Given the description of an element on the screen output the (x, y) to click on. 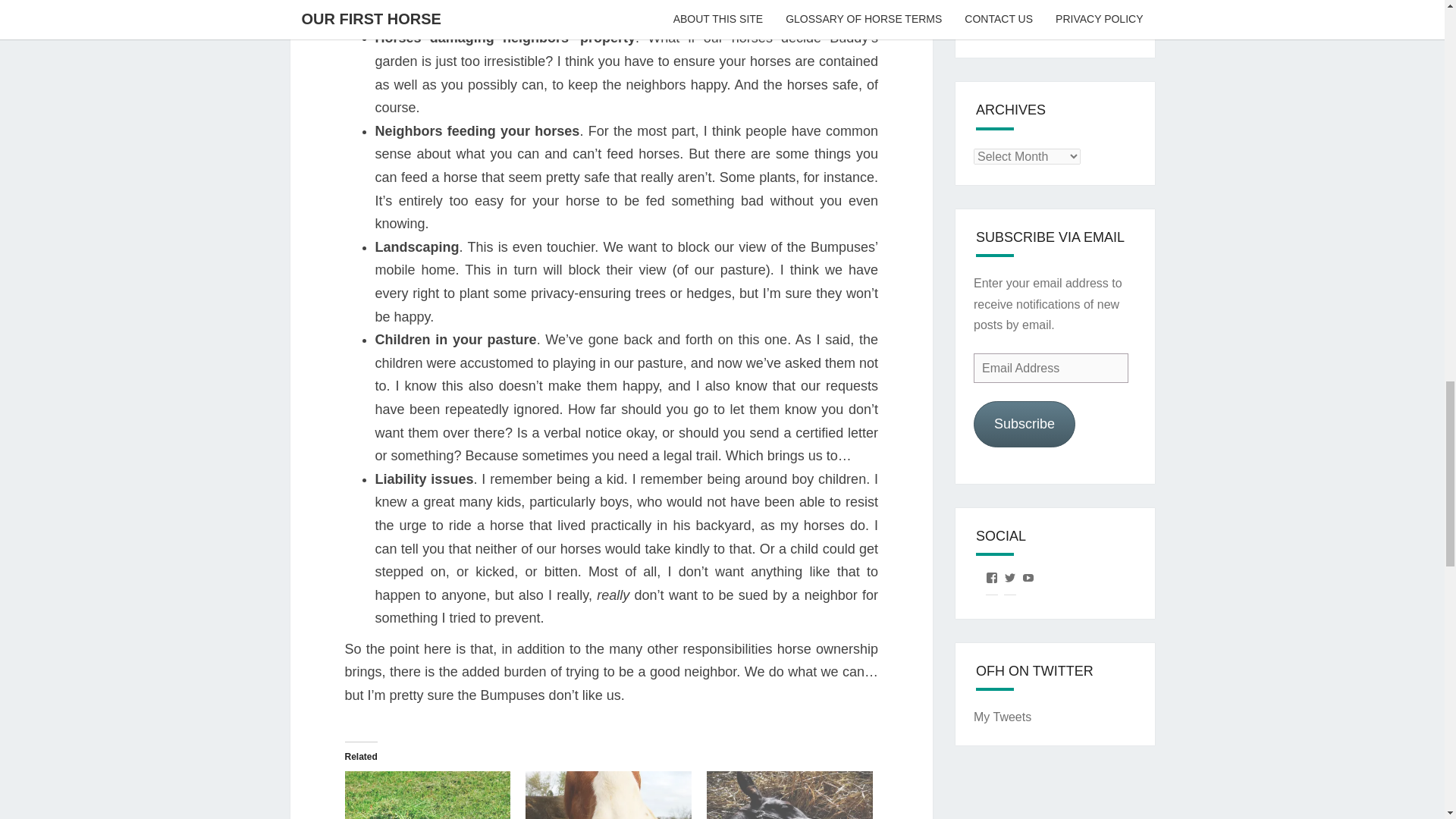
Resting horses look dead (789, 795)
Do not feed grass clippings to horses (427, 795)
